Given the description of an element on the screen output the (x, y) to click on. 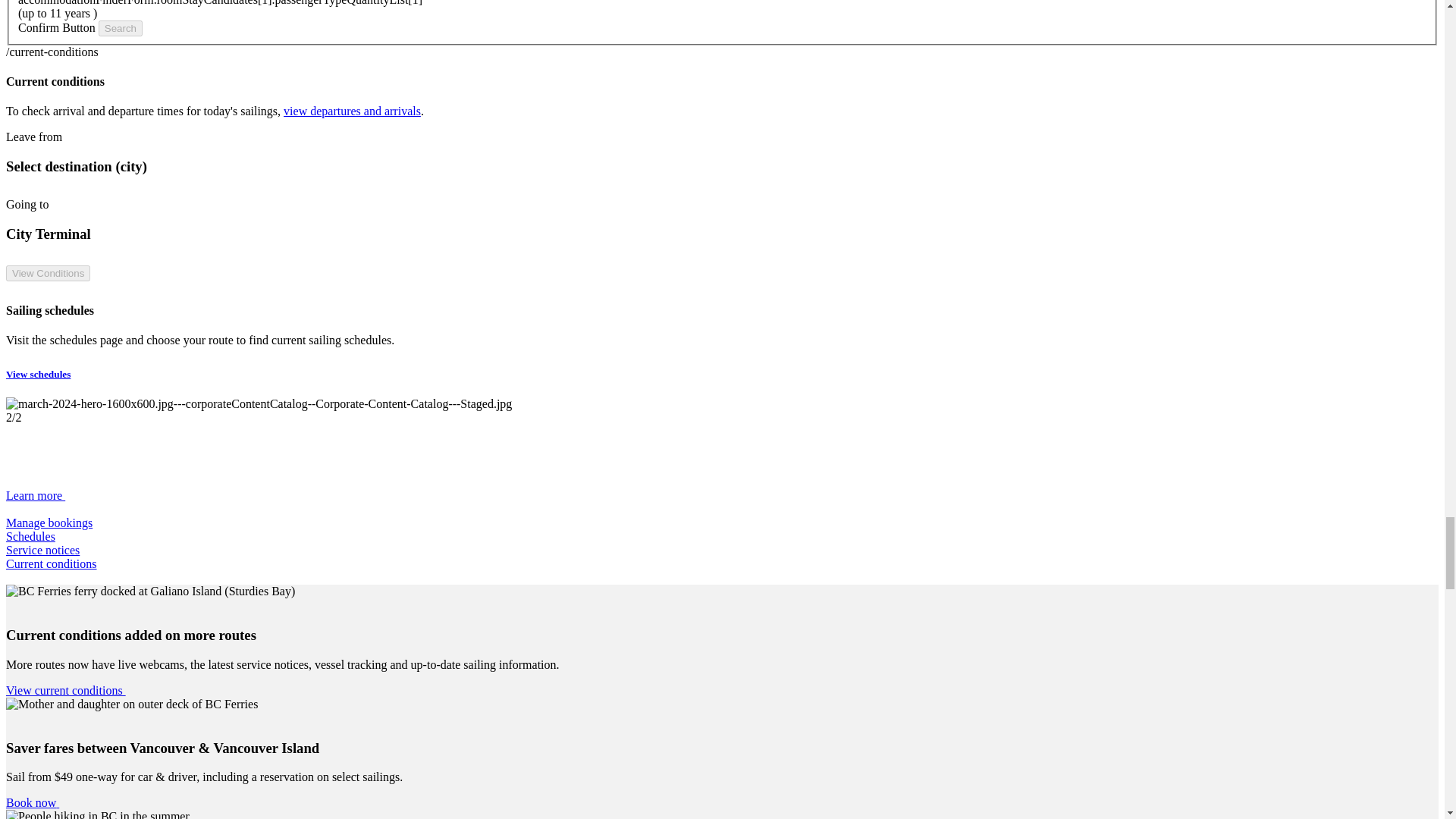
Mother and daughter on outer deck of BC Ferries (131, 704)
People hiking in BC in the summer (97, 814)
